Given the description of an element on the screen output the (x, y) to click on. 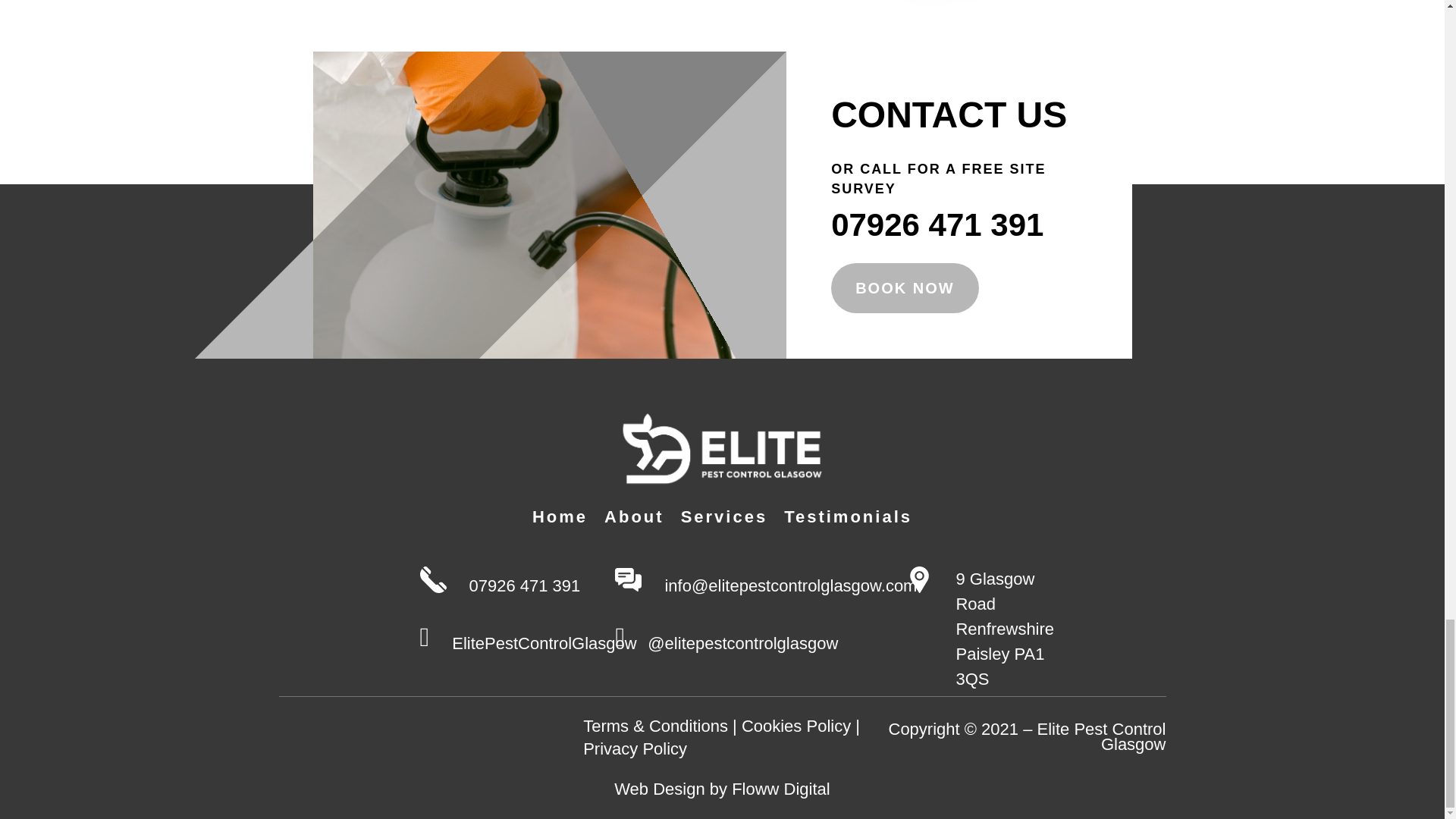
Home (560, 519)
ElitePestControlGlasgow (543, 642)
BOOK NOW (904, 287)
Testimonials (848, 519)
Services (724, 519)
About (633, 519)
elite logo white (721, 448)
